Given the description of an element on the screen output the (x, y) to click on. 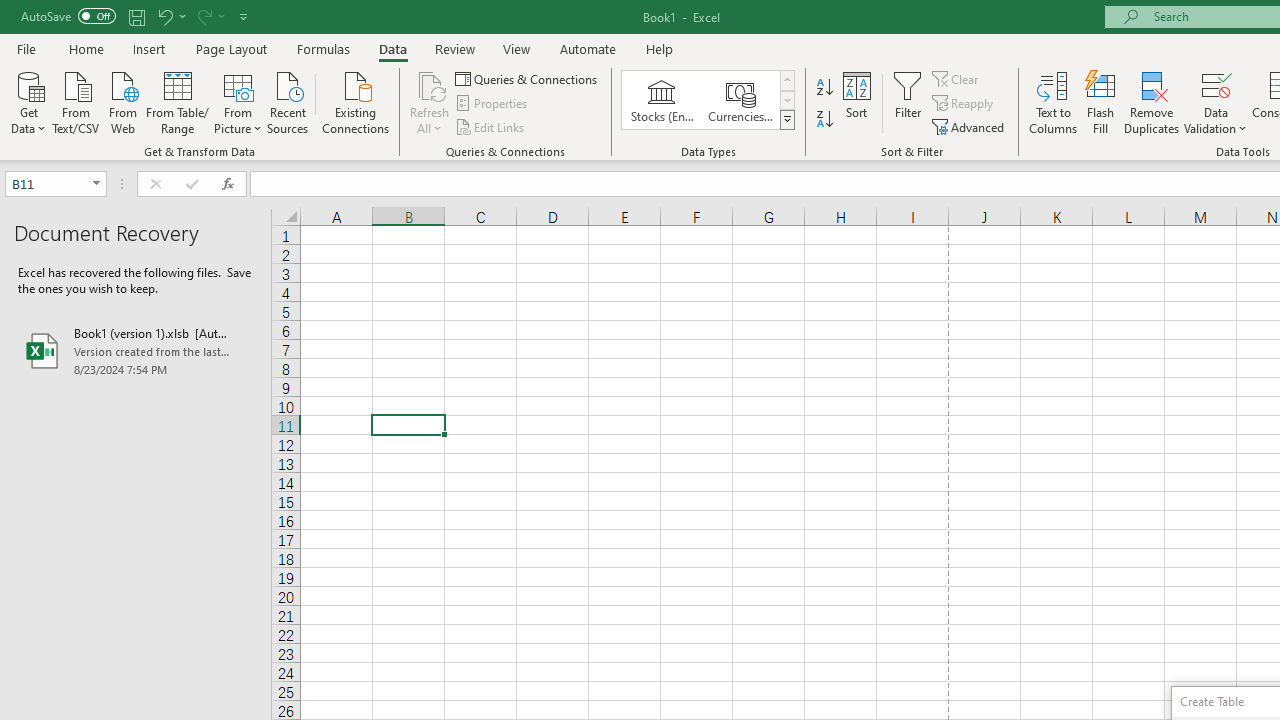
Row up (786, 79)
Data Types (786, 120)
Existing Connections (355, 101)
Data Validation... (1215, 102)
View (517, 48)
Currencies (English) (740, 100)
Sort... (856, 102)
Page Layout (230, 48)
Refresh All (429, 102)
File Tab (26, 48)
Sort Z to A (824, 119)
Remove Duplicates (1151, 102)
Book1 (version 1).xlsb  [AutoRecovered] (136, 350)
AutoSave (68, 16)
Insert (149, 48)
